Given the description of an element on the screen output the (x, y) to click on. 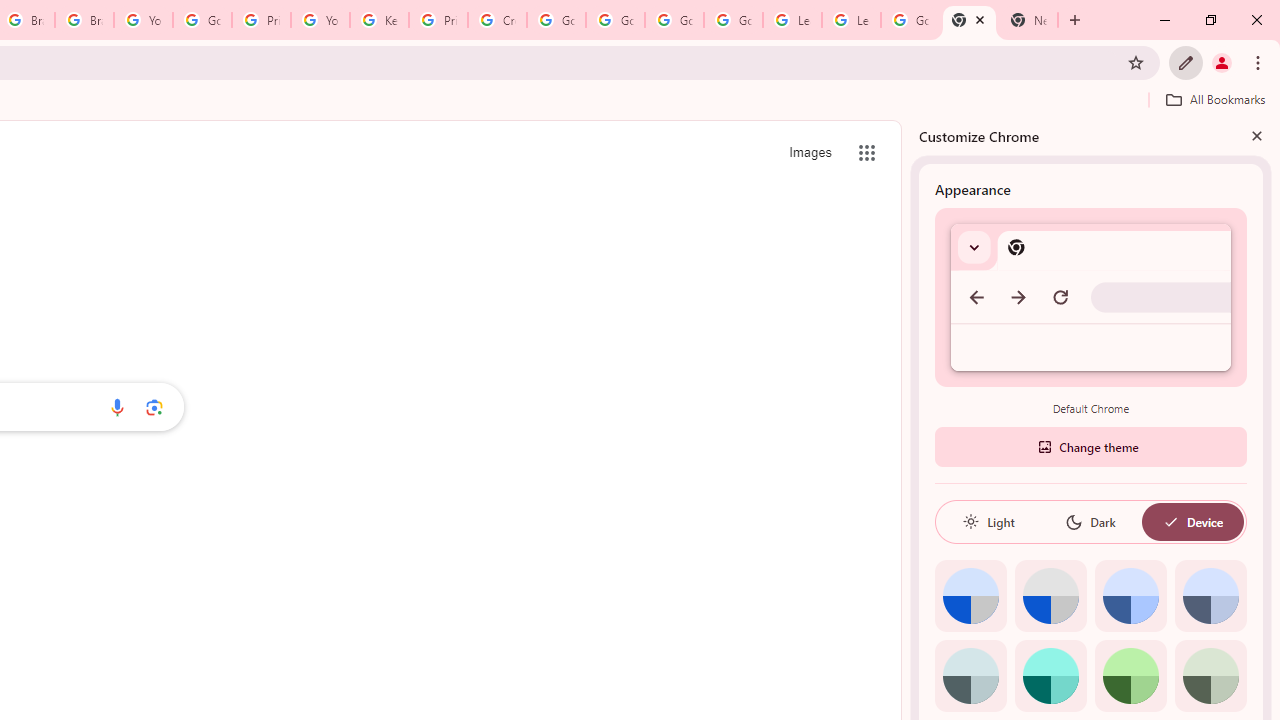
Light (988, 521)
Google Account Help (556, 20)
Grey (970, 676)
Cool grey (1210, 596)
Google Account Help (201, 20)
Default color (970, 596)
Google Account (909, 20)
